Given the description of an element on the screen output the (x, y) to click on. 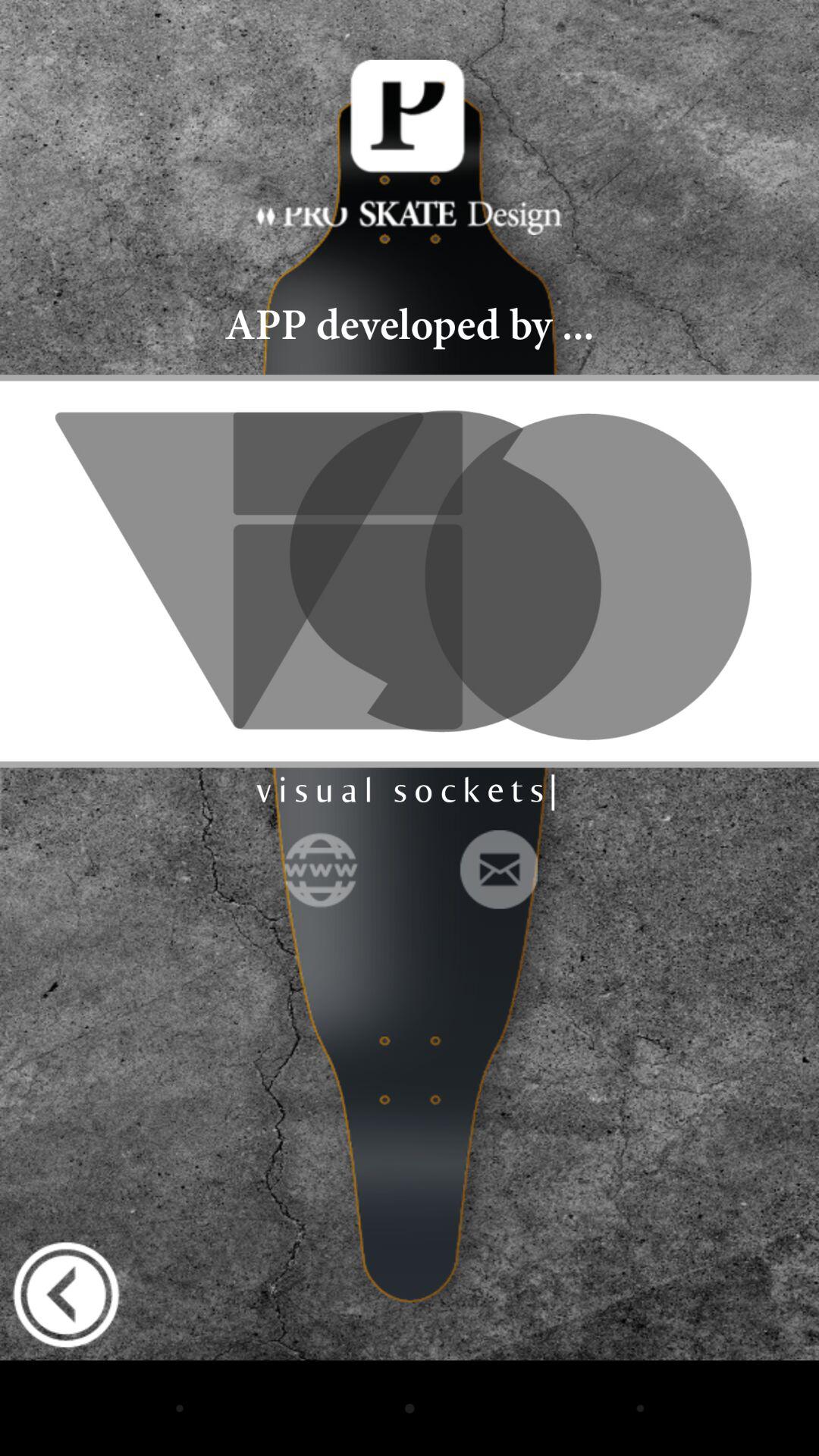
send mail (497, 869)
